Given the description of an element on the screen output the (x, y) to click on. 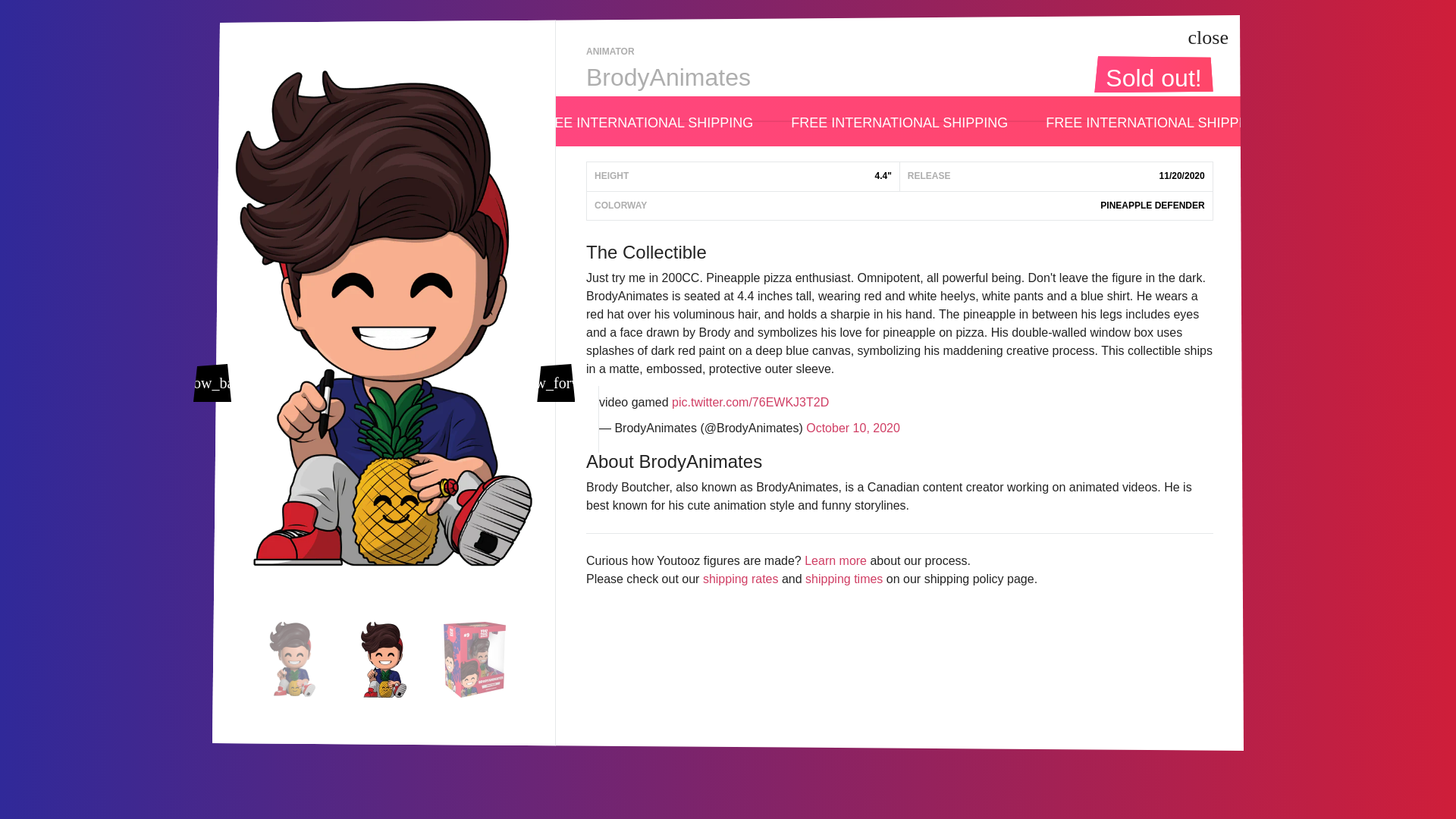
Youtooz on Reddit (410, 678)
Contact Us (692, 645)
Close (1208, 37)
Shipping Policy (692, 696)
FAQ (924, 634)
Shipping Policy (692, 696)
ABOUT (932, 657)
Track My Order (692, 748)
Youtooz on Tiktok (439, 678)
Privacy (936, 701)
